Given the description of an element on the screen output the (x, y) to click on. 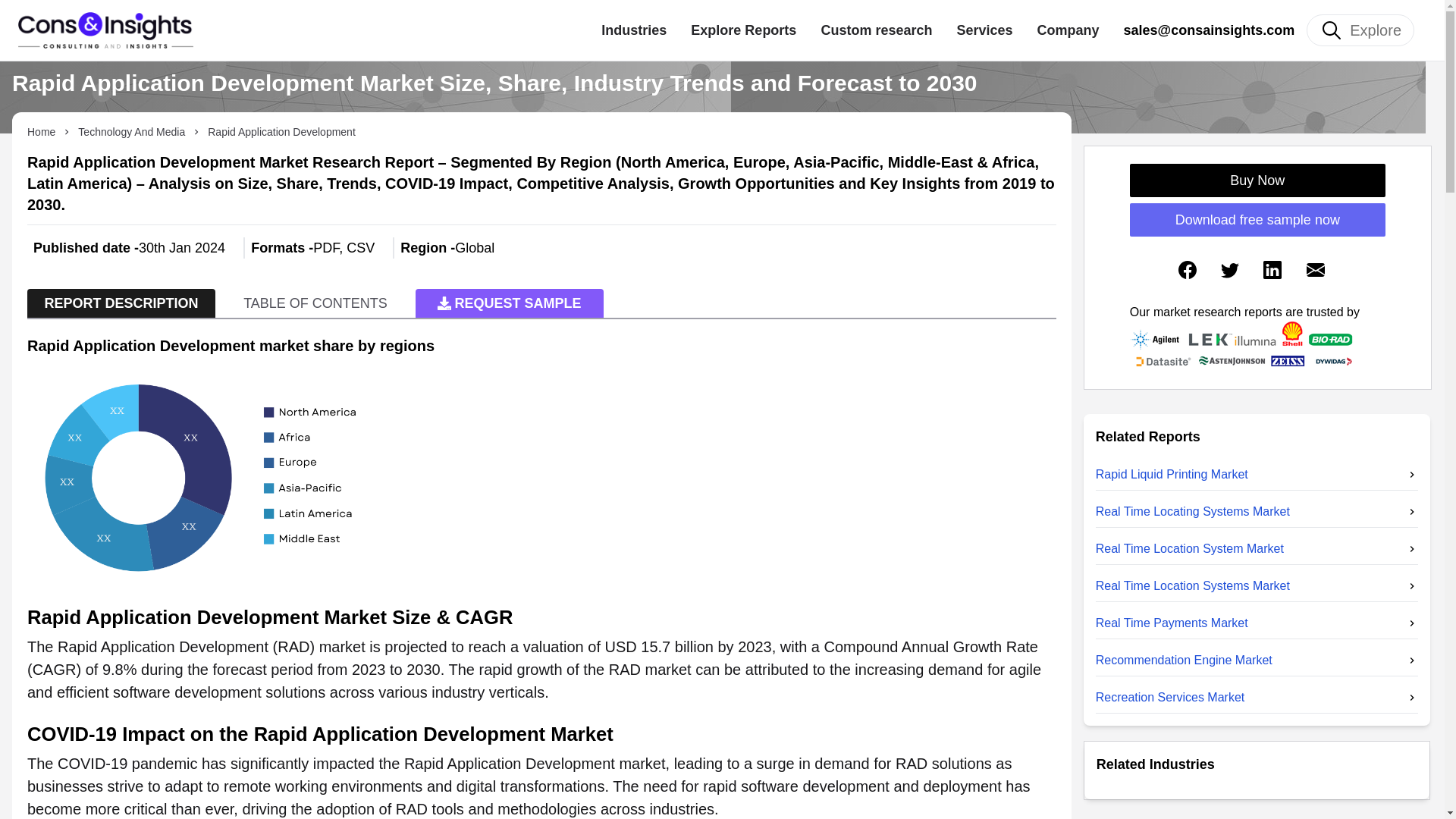
Custom research (876, 29)
Explore Reports (743, 29)
Industries (633, 29)
Explore (1359, 29)
Services (983, 29)
Consainsights (105, 30)
Company (1067, 29)
